Given the description of an element on the screen output the (x, y) to click on. 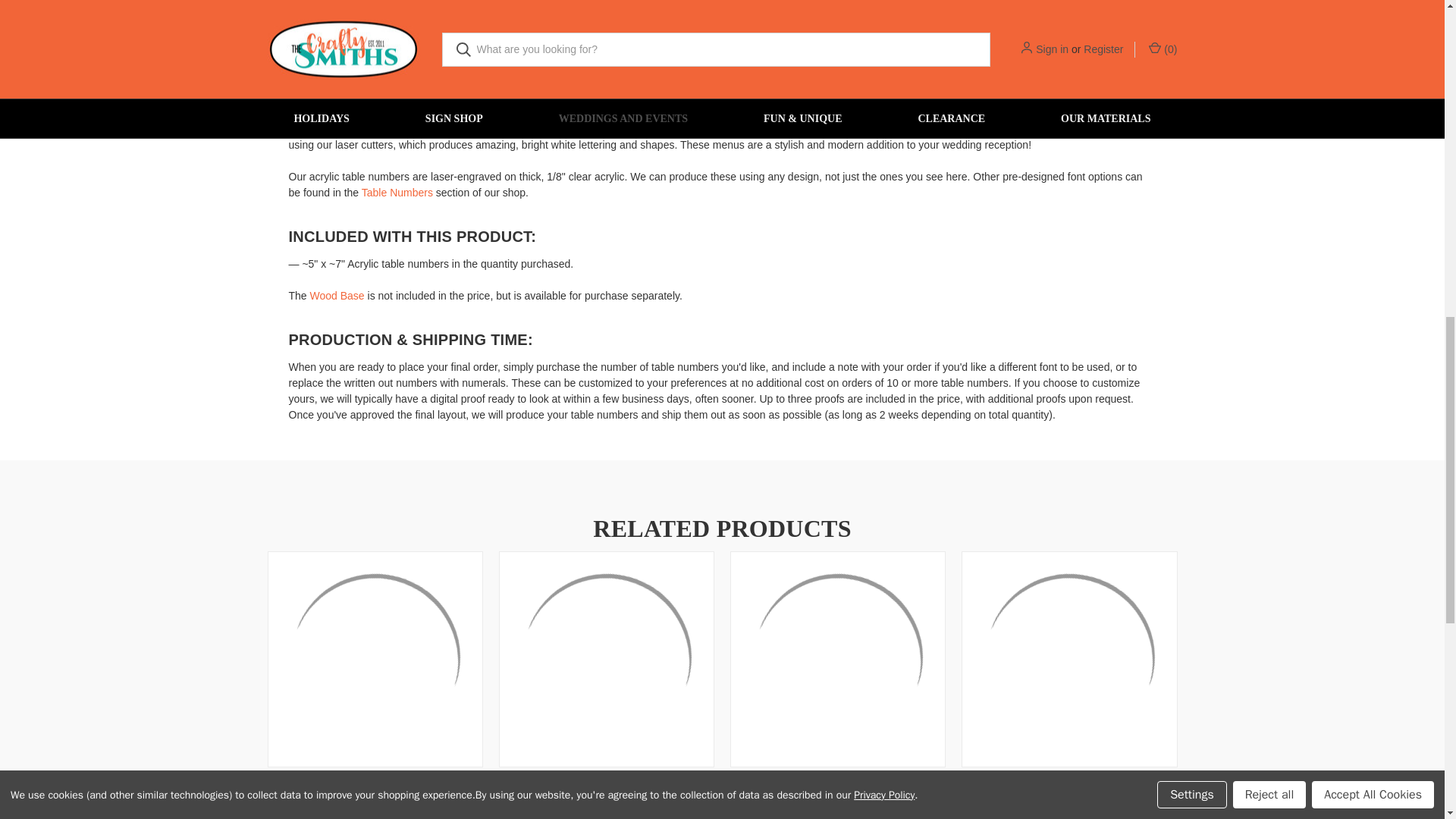
Engraved Clear Acrylic Table Numbers (427, 2)
Engraved Clear Acrylic Table Numbers (640, 2)
Clear Acrylic Save-the-Date - Silhouettes (1068, 659)
Engraved Clear Acrylic Table Numbers (534, 2)
